Given the description of an element on the screen output the (x, y) to click on. 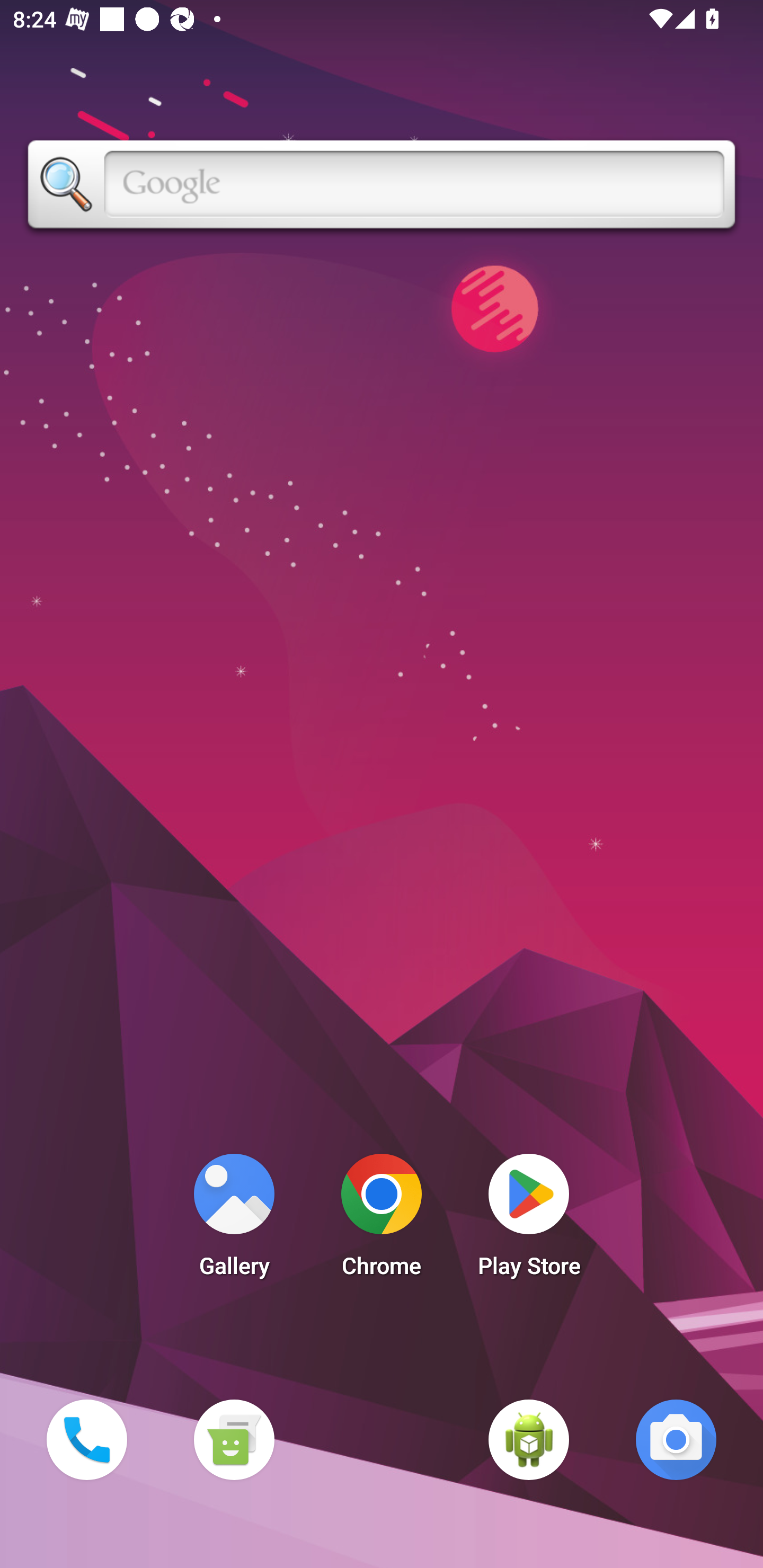
Gallery (233, 1220)
Chrome (381, 1220)
Play Store (528, 1220)
Phone (86, 1439)
Messaging (233, 1439)
WebView Browser Tester (528, 1439)
Camera (676, 1439)
